Given the description of an element on the screen output the (x, y) to click on. 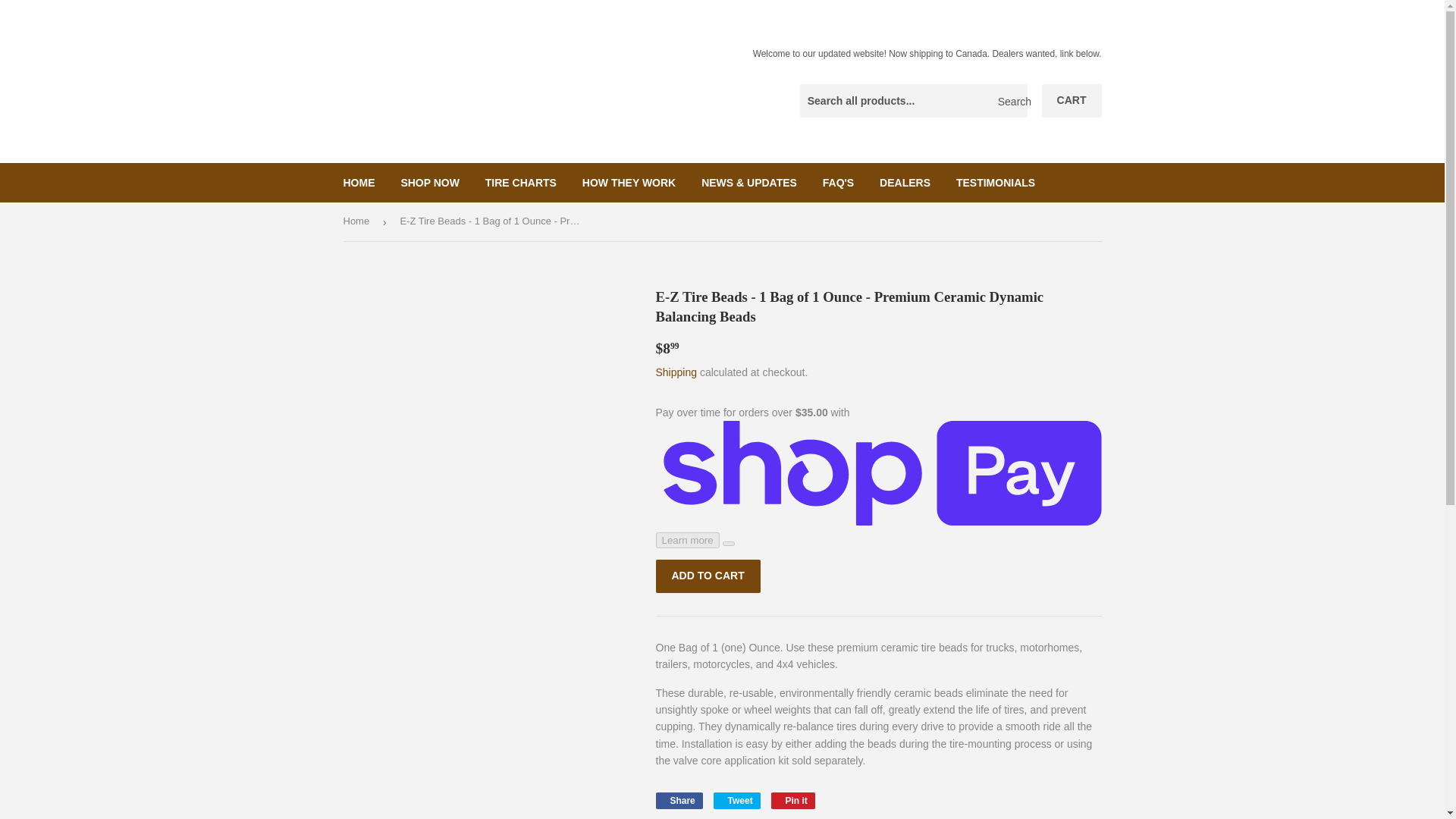
TESTIMONIALS (995, 182)
Share on Facebook (678, 800)
TIRE CHARTS (520, 182)
CART (1072, 100)
HOME (359, 182)
SHOP NOW (429, 182)
DEALERS (904, 182)
HOW THEY WORK (628, 182)
Tweet on Twitter (736, 800)
FAQ'S (837, 182)
Pin on Pinterest (793, 800)
Search (1009, 101)
